Given the description of an element on the screen output the (x, y) to click on. 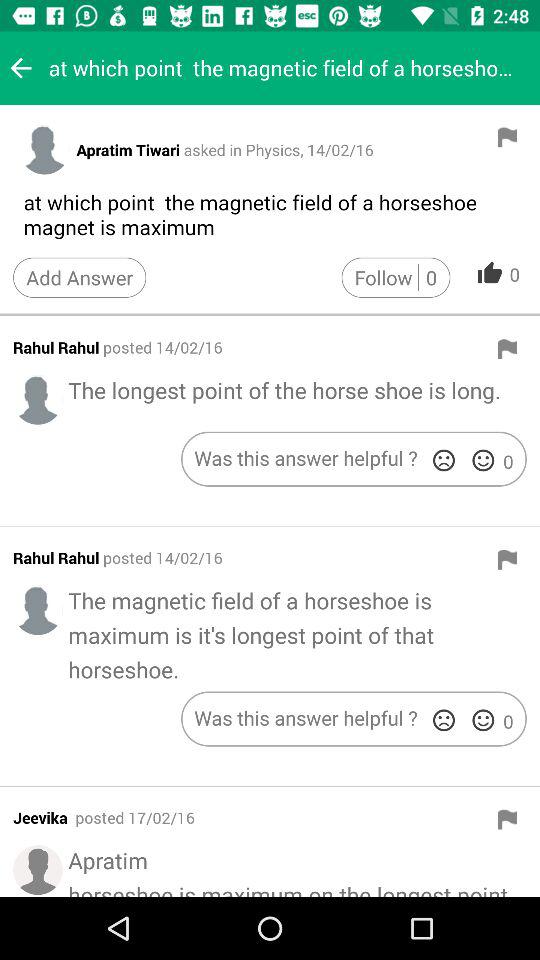
click on profile thumbnail (38, 610)
